Given the description of an element on the screen output the (x, y) to click on. 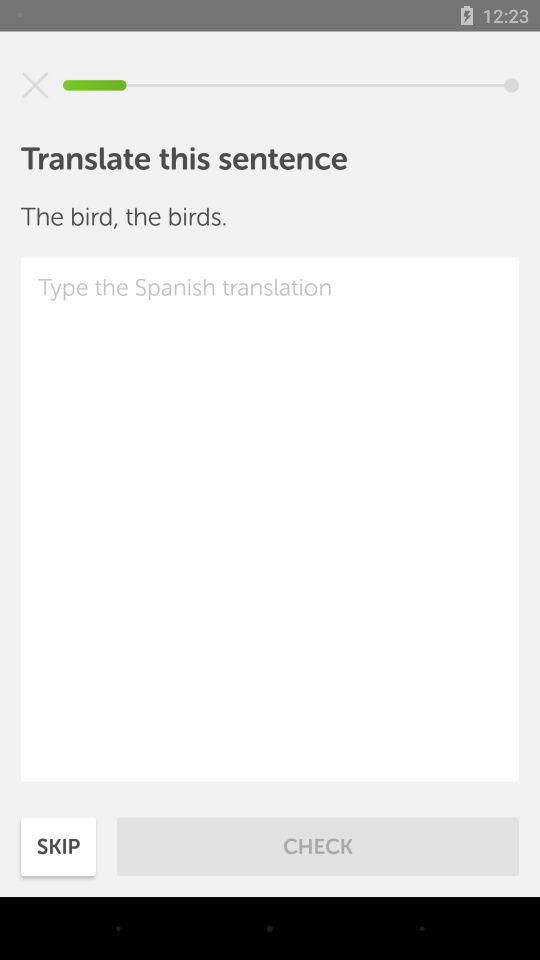
close (35, 85)
